Given the description of an element on the screen output the (x, y) to click on. 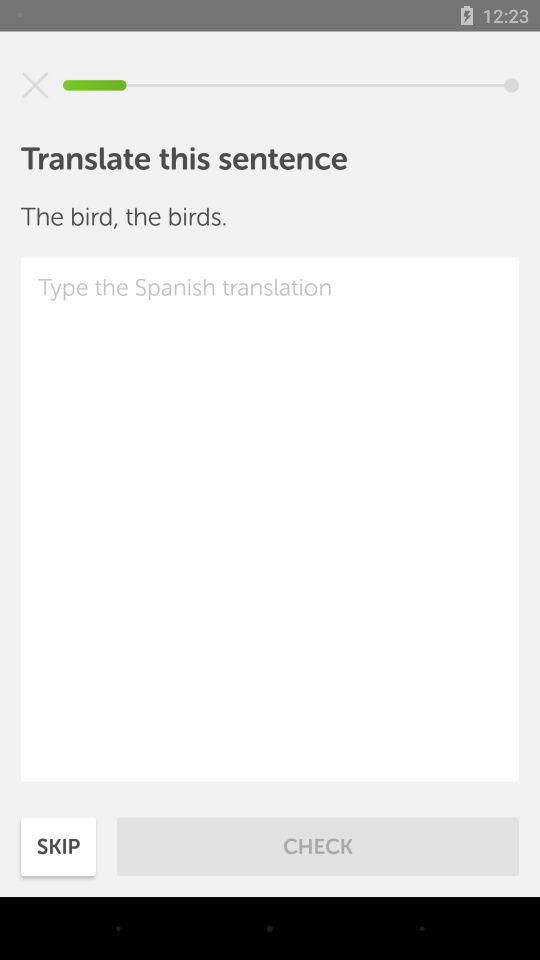
close (35, 85)
